Given the description of an element on the screen output the (x, y) to click on. 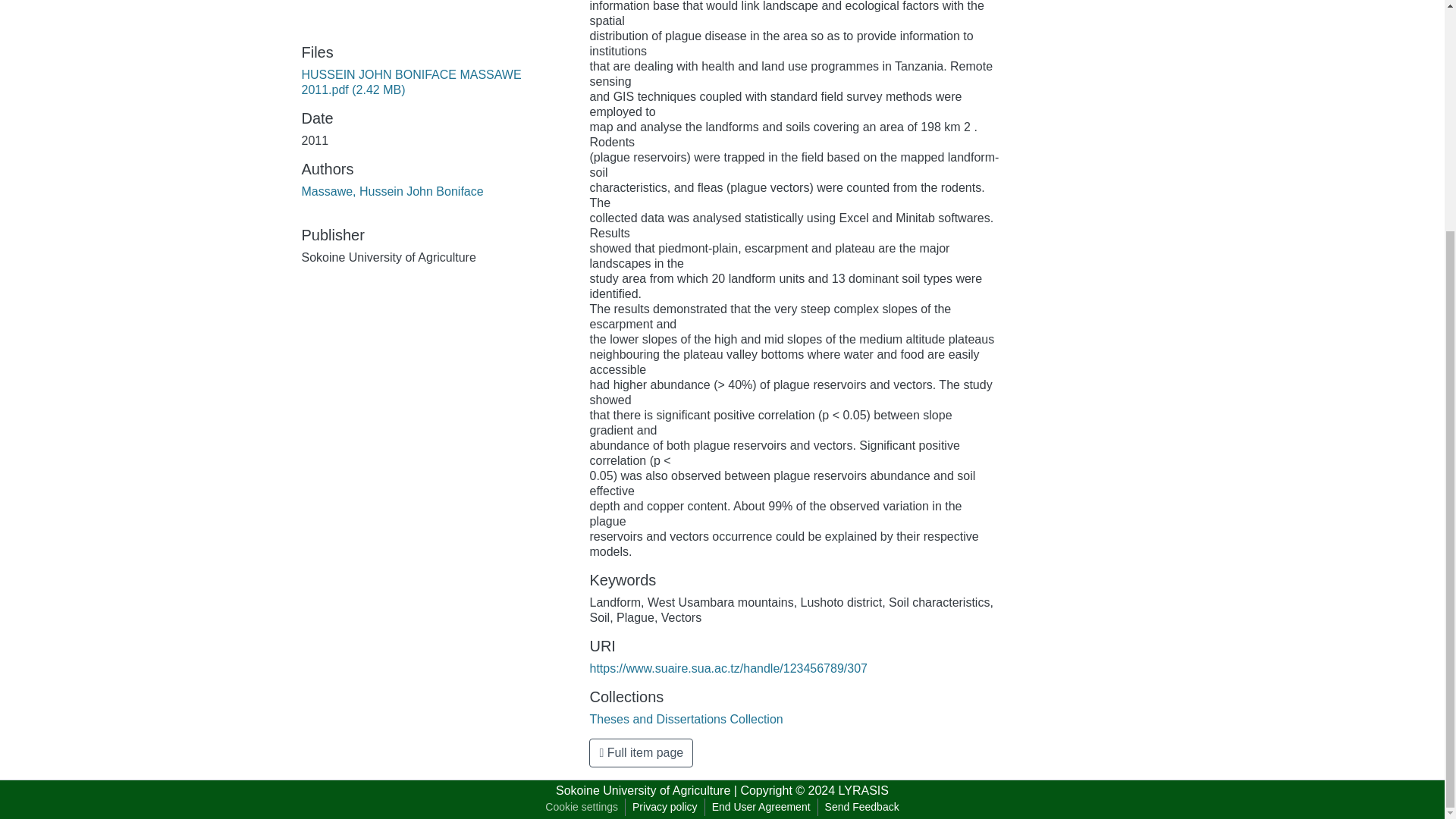
LYRASIS (863, 789)
Cookie settings (581, 806)
Full item page (641, 752)
Massawe, Hussein John Boniface (392, 191)
Theses and Dissertations Collection (686, 718)
Send Feedback (861, 806)
Privacy policy (665, 806)
End User Agreement (760, 806)
